Given the description of an element on the screen output the (x, y) to click on. 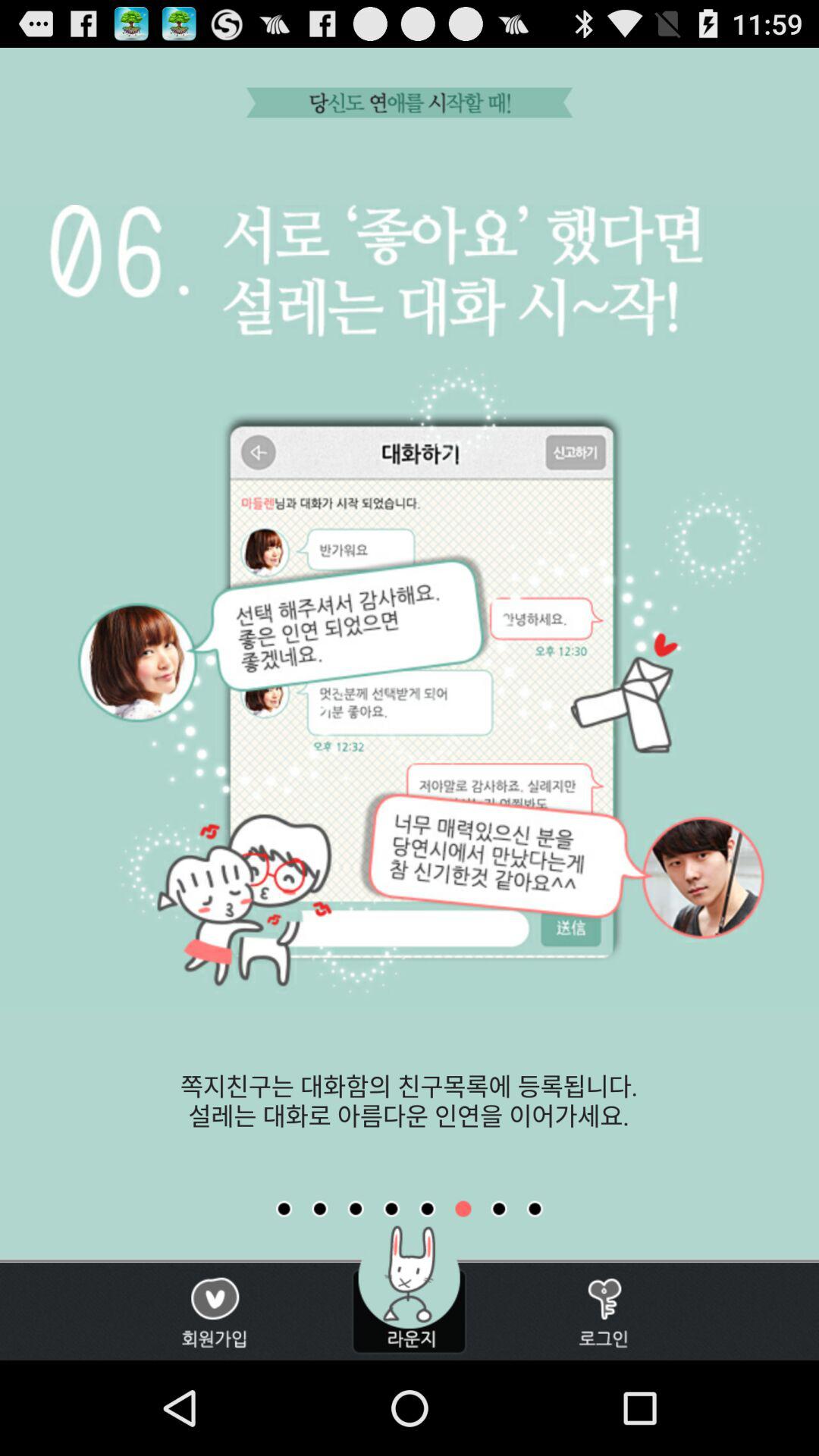
select page (534, 1208)
